Given the description of an element on the screen output the (x, y) to click on. 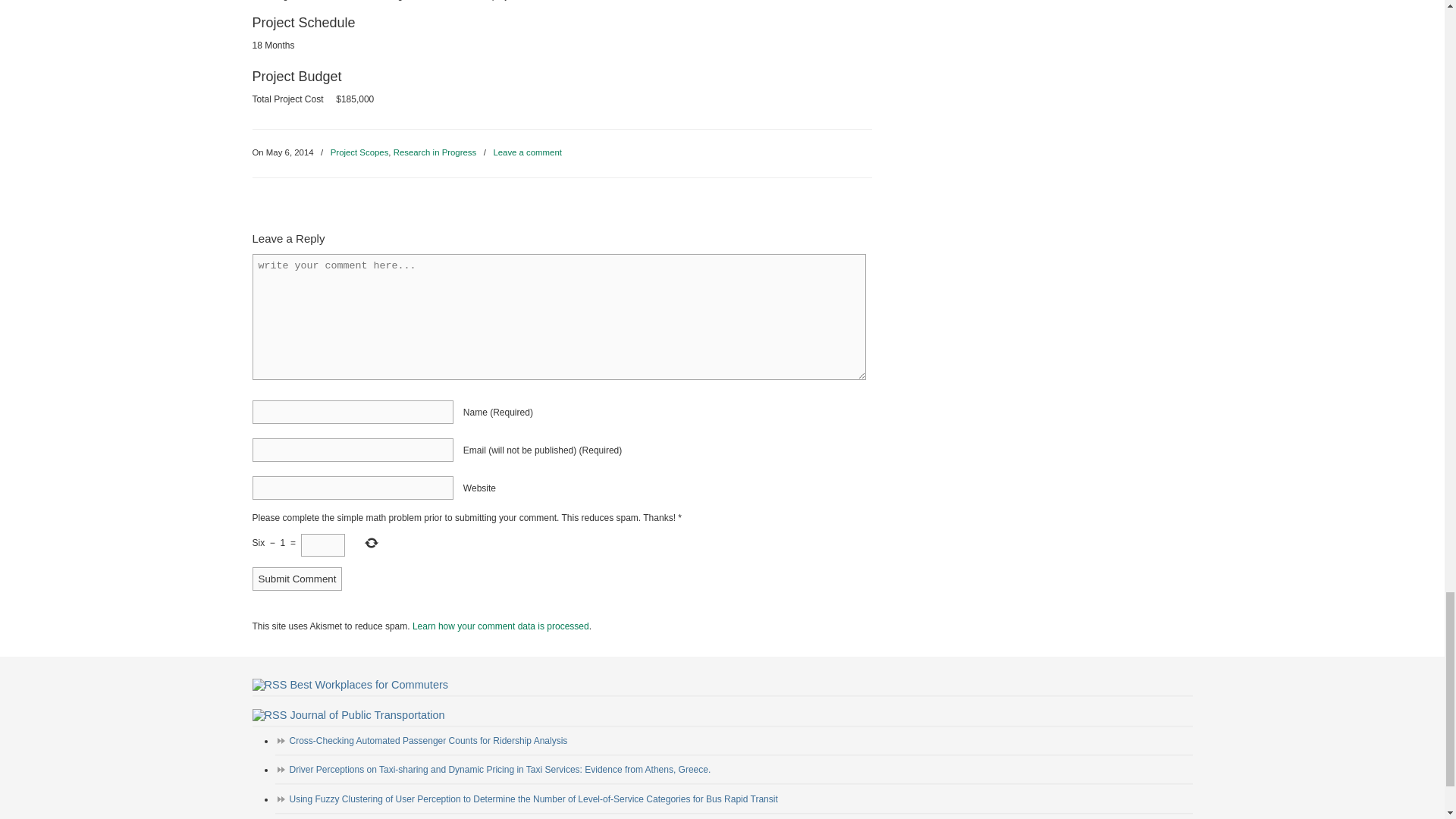
Leave a comment (527, 152)
Project Scopes (359, 152)
Journal of Public Transportation (366, 715)
Best Workplaces for Commuters (368, 684)
Learn how your comment data is processed (500, 625)
Submit Comment (296, 578)
Research in Progress (435, 152)
Submit Comment (296, 578)
